Given the description of an element on the screen output the (x, y) to click on. 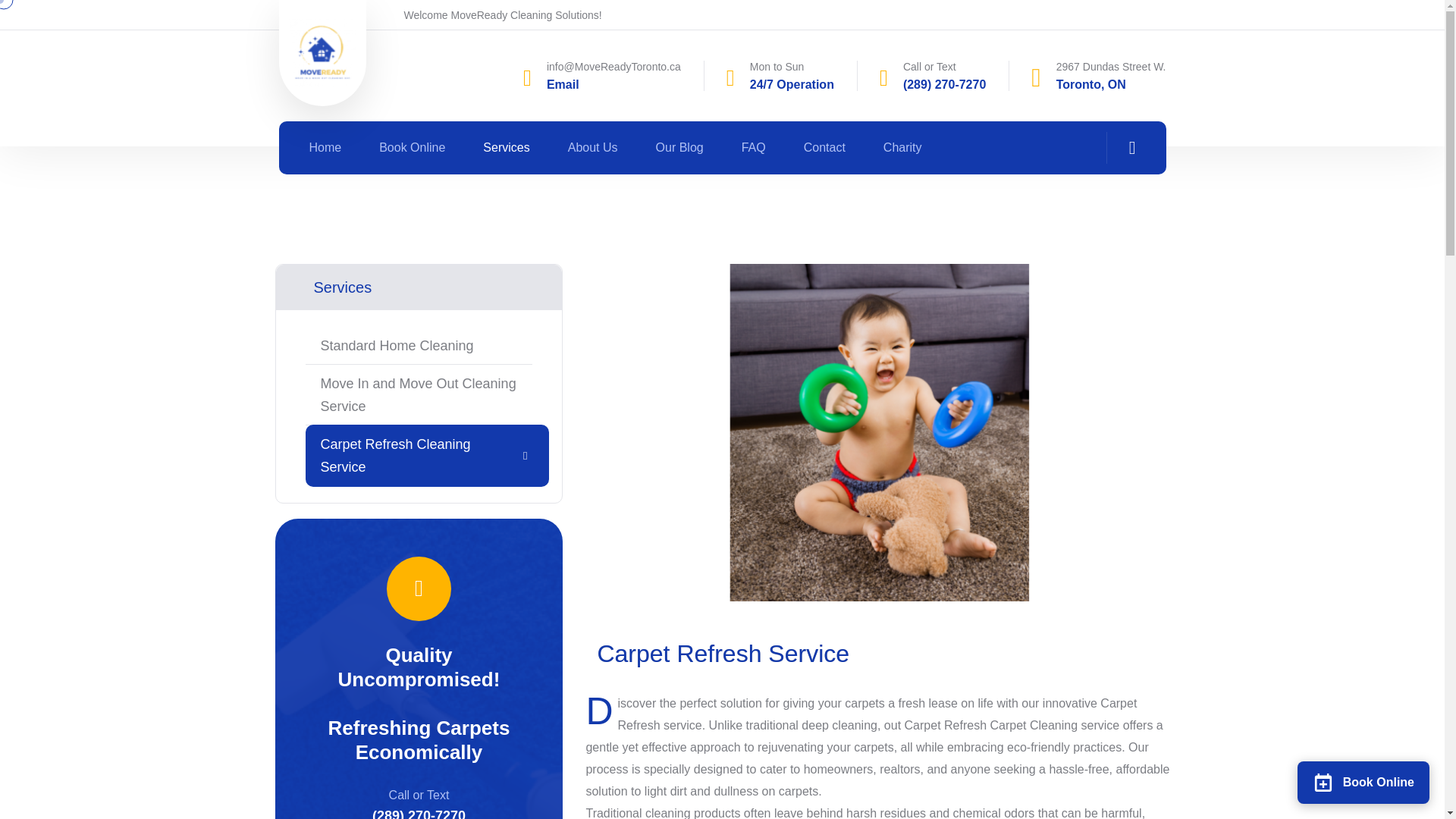
Home (325, 147)
Book Online (411, 147)
Contact (824, 147)
Charity (902, 147)
Our Blog (679, 147)
Services (506, 147)
FAQ (753, 147)
About Us (592, 147)
